Given the description of an element on the screen output the (x, y) to click on. 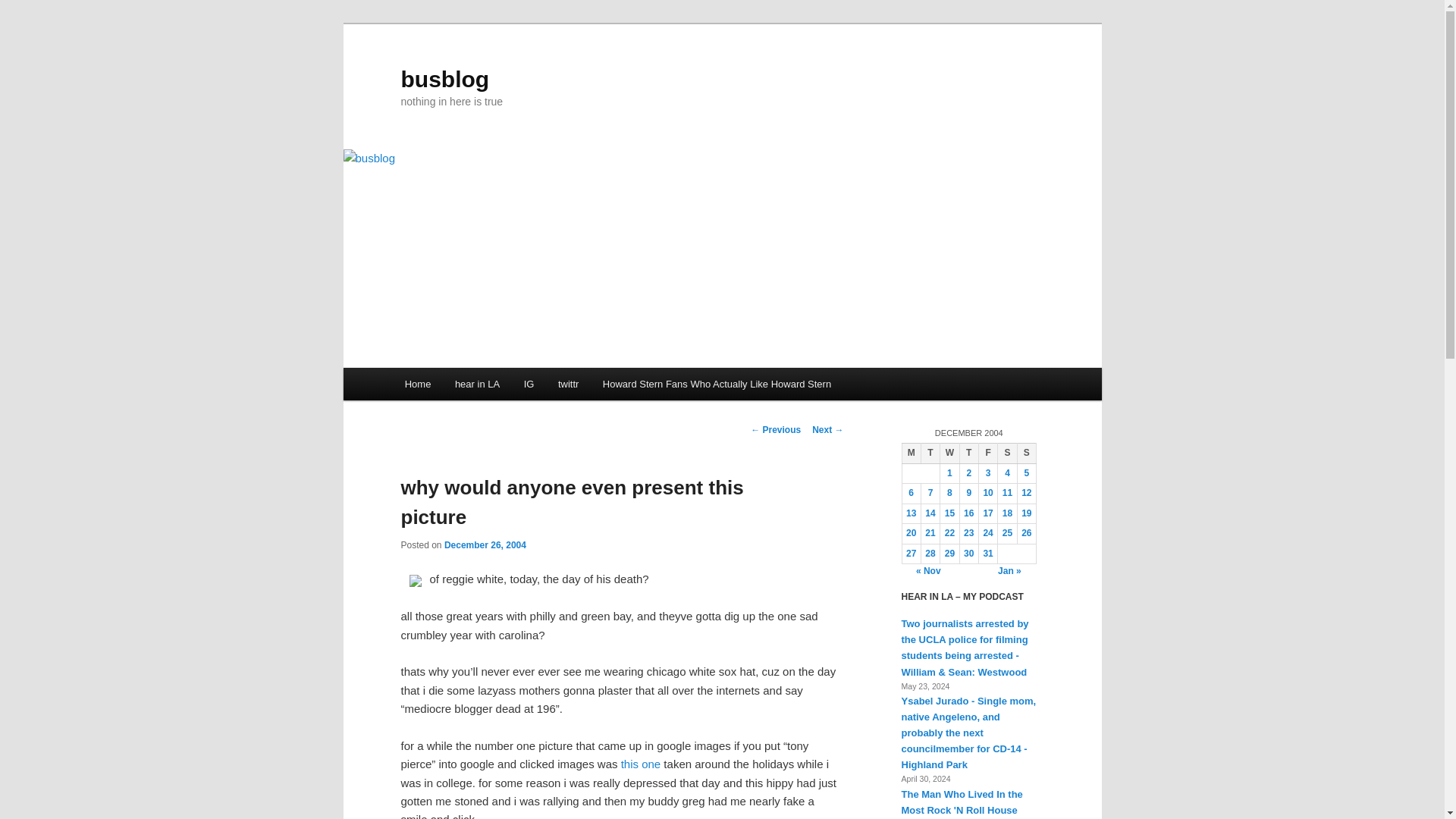
twittr (568, 383)
11:20 pm (484, 544)
Wednesday (949, 453)
Sunday (1025, 453)
15 (949, 512)
13 (910, 512)
Saturday (1006, 453)
Friday (987, 453)
Thursday (968, 453)
